Given the description of an element on the screen output the (x, y) to click on. 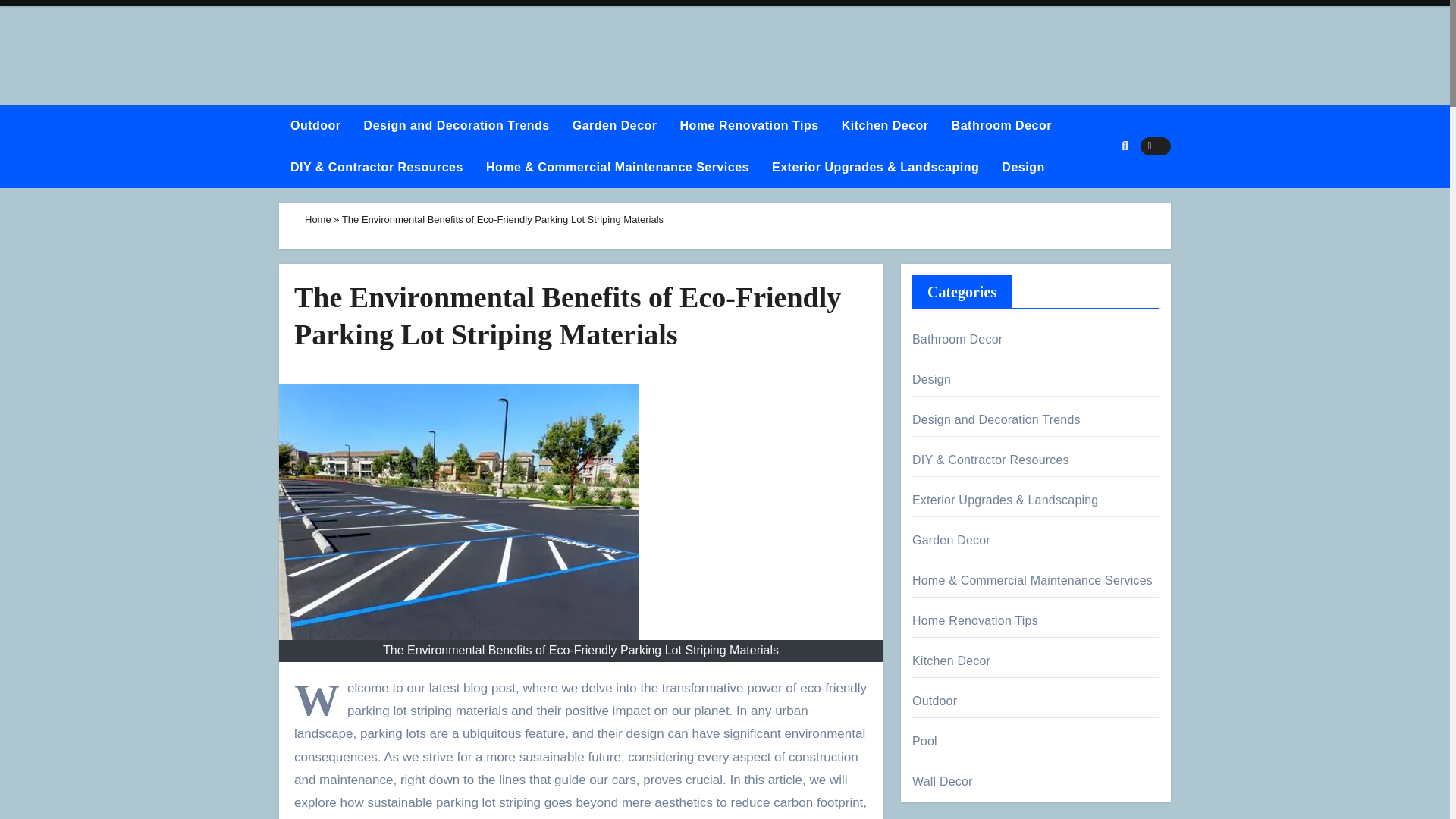
Garden Decor (614, 125)
Outdoor (315, 125)
Design and Decoration Trends (456, 125)
Bathroom Decor (1001, 125)
Home Renovation Tips (748, 125)
Design (1022, 167)
Design and Decoration Trends (456, 125)
Home Renovation Tips (748, 125)
Outdoor (315, 125)
Kitchen Decor (884, 125)
Garden Decor (614, 125)
Kitchen Decor (884, 125)
Home (317, 219)
Bathroom Decor (1001, 125)
